Given the description of an element on the screen output the (x, y) to click on. 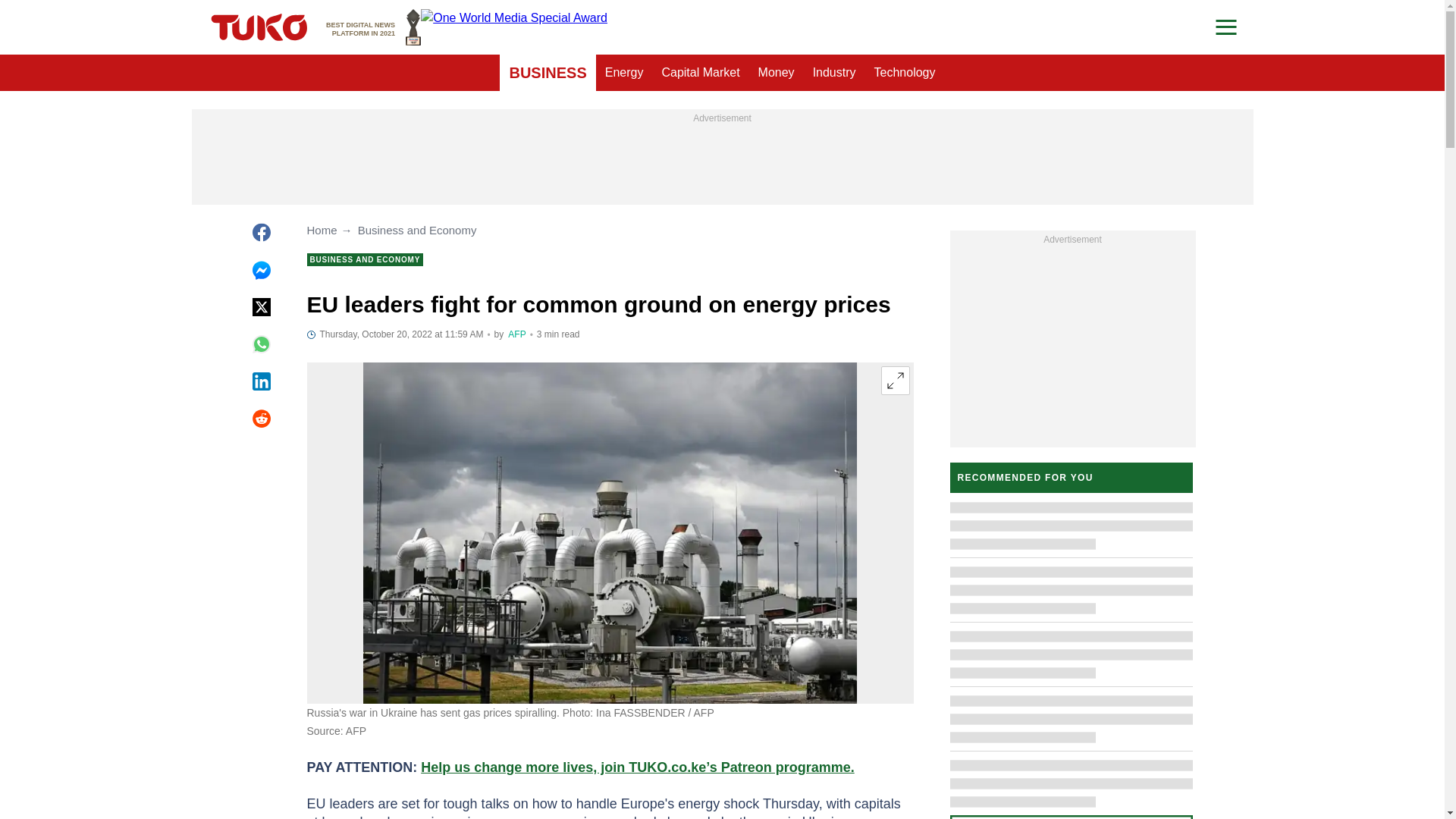
Expand image (895, 380)
Energy (623, 72)
Technology (904, 72)
Capital Market (700, 72)
Industry (833, 72)
Author page (516, 334)
BUSINESS (547, 72)
Money (373, 27)
